Given the description of an element on the screen output the (x, y) to click on. 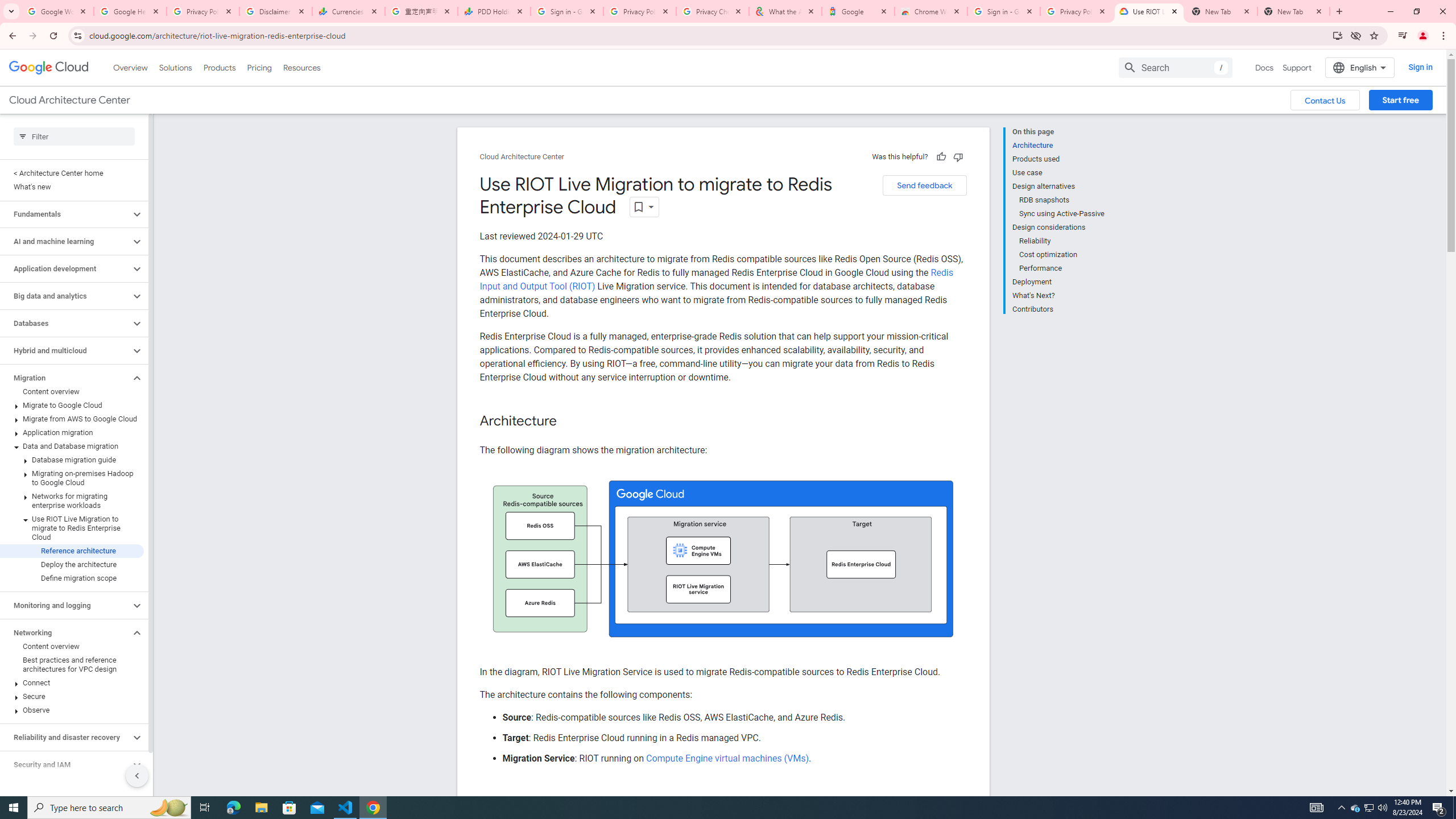
Pricing (259, 67)
< Architecture Center home (72, 173)
Security and IAM (64, 764)
Sign in - Google Accounts (566, 11)
Sync using Active-Passive (1062, 213)
Storage (64, 792)
Application development (64, 269)
Google Workspace Admin Community (57, 11)
Products (218, 67)
Database migration guide (72, 459)
